Given the description of an element on the screen output the (x, y) to click on. 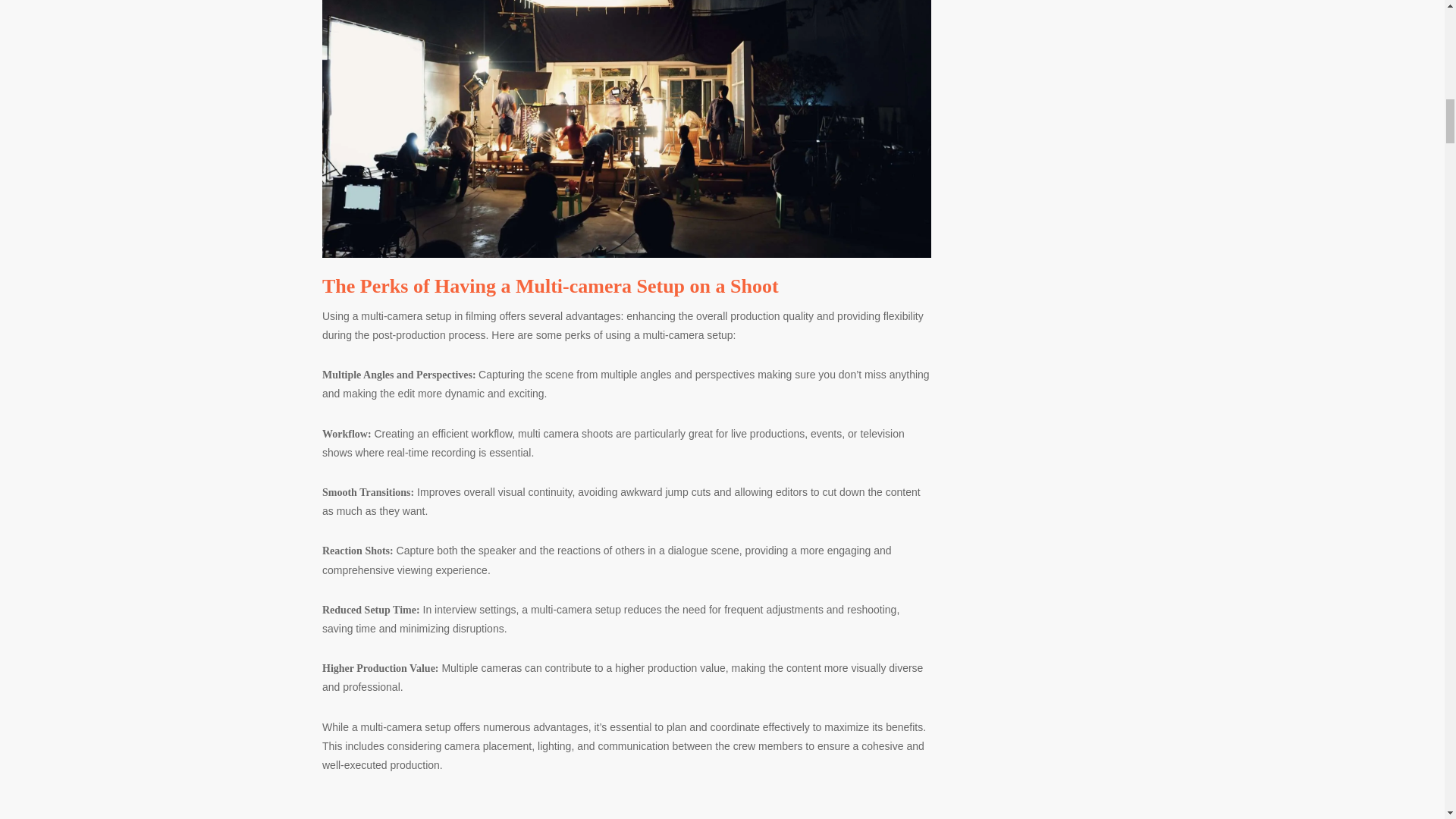
The Perks of Having a Multi-camera Setup on a Shoot (549, 286)
